Given the description of an element on the screen output the (x, y) to click on. 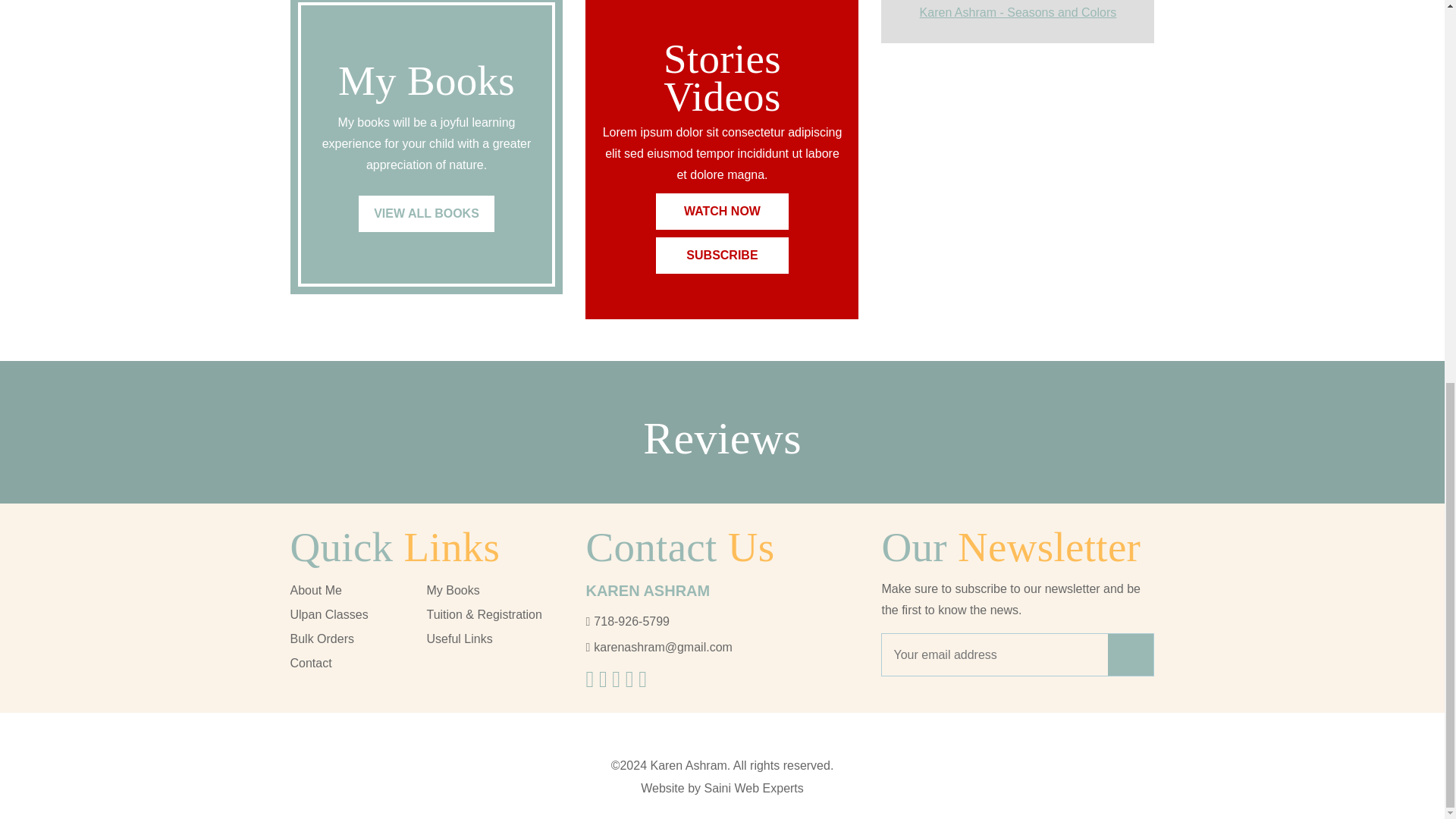
SUBSCRIBE (722, 255)
Karen Ashram - Seasons and Colors (1018, 11)
Sign up (1130, 654)
WATCH NOW (722, 211)
VIEW ALL BOOKS (426, 213)
About Me (314, 590)
